Given the description of an element on the screen output the (x, y) to click on. 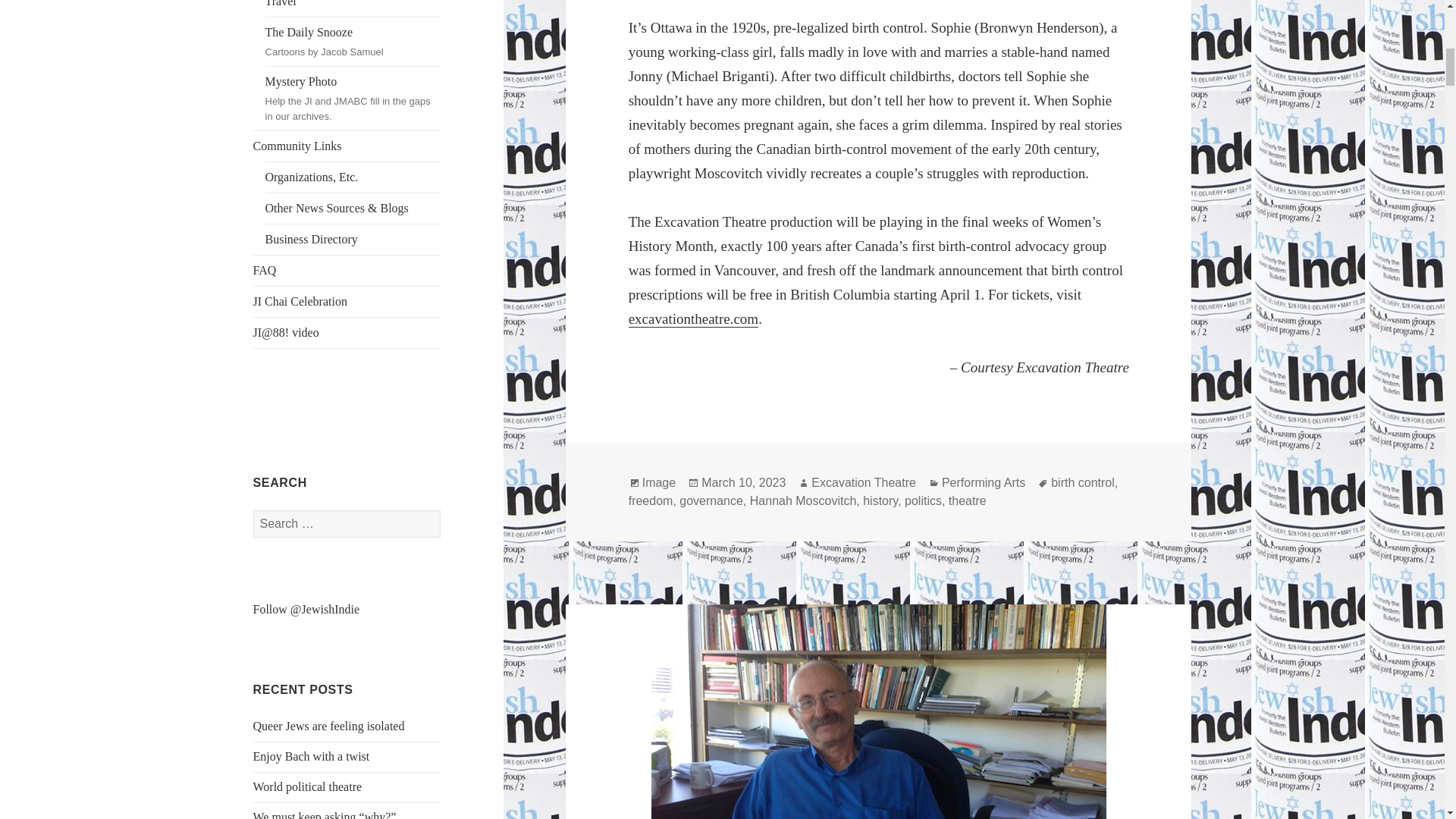
Queer Jews are feeling isolated (328, 725)
Community Links (347, 146)
Business Directory (352, 239)
Enjoy Bach with a twist (311, 756)
Travel (352, 8)
FAQ (347, 270)
JI Chai Celebration (352, 41)
Organizations, Etc. (347, 301)
World political theatre (352, 177)
Search (307, 786)
